Given the description of an element on the screen output the (x, y) to click on. 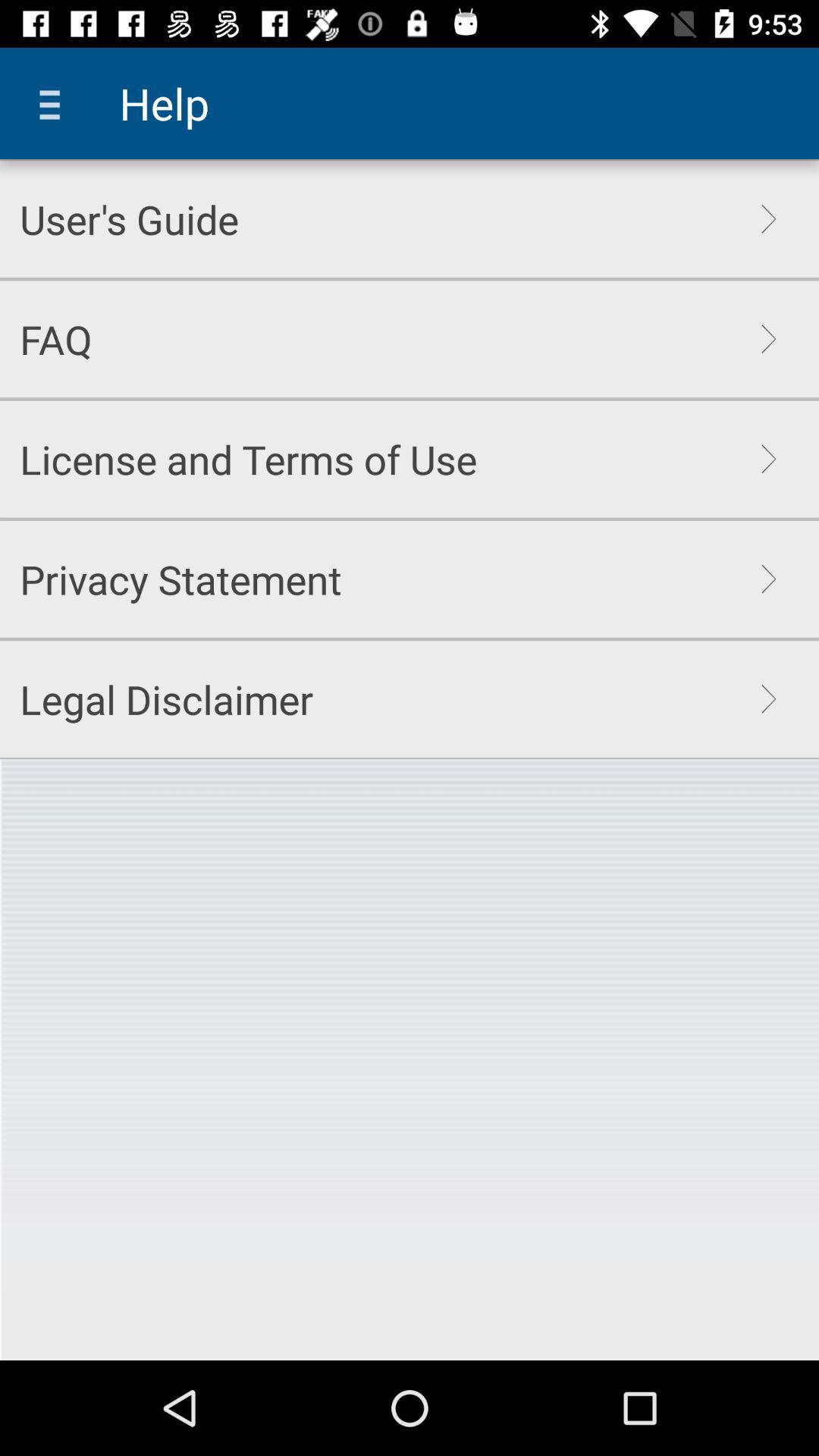
select legal disclaimer item (166, 698)
